Given the description of an element on the screen output the (x, y) to click on. 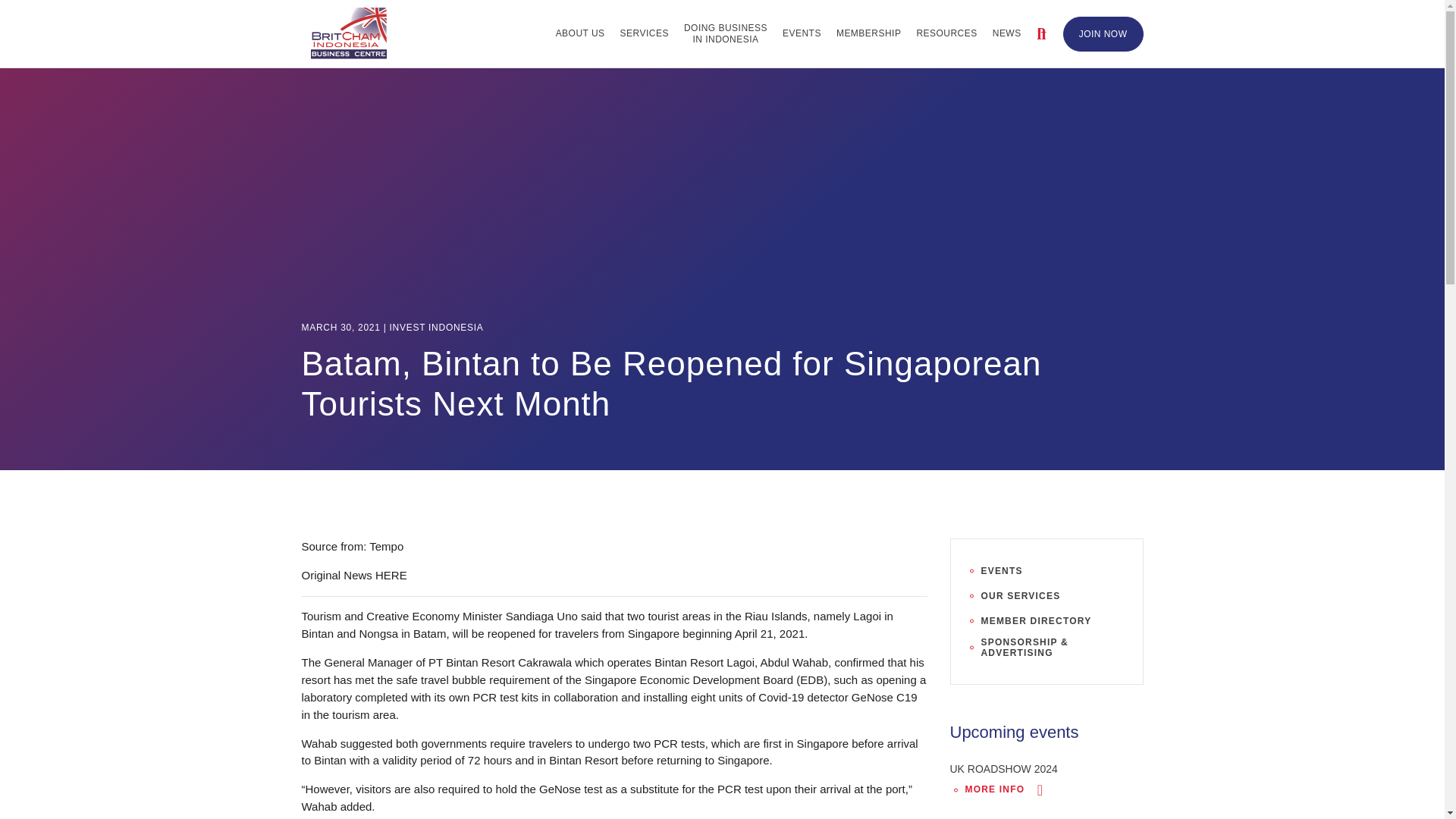
HERE (391, 574)
NEWS (1007, 33)
ABOUT US (580, 33)
RESOURCES (946, 33)
SERVICES (644, 33)
MEMBERSHIP (868, 33)
JOIN NOW (725, 33)
EVENTS (1102, 33)
